Given the description of an element on the screen output the (x, y) to click on. 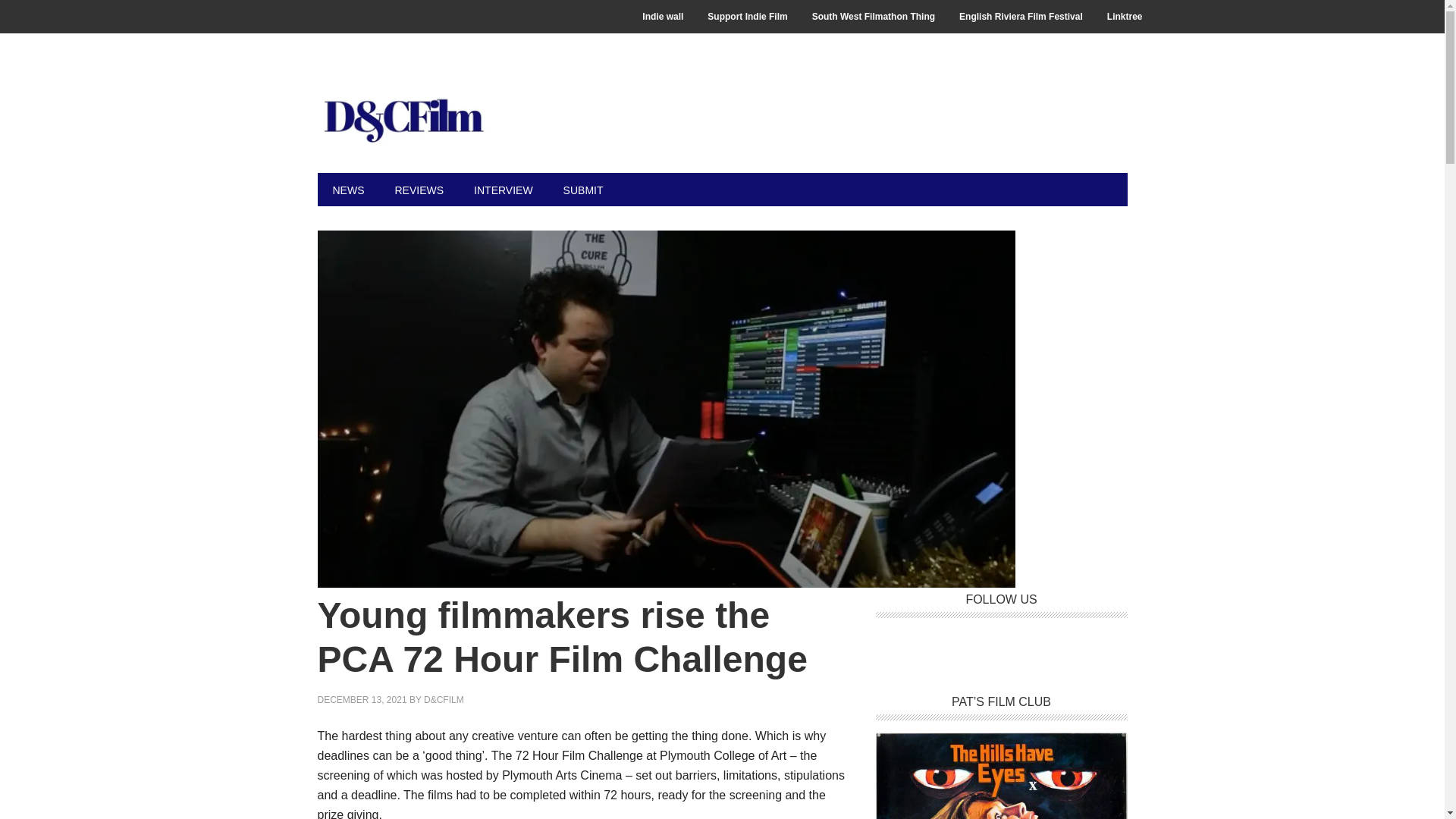
SUBMIT (583, 189)
Support Indie Film (747, 16)
INTERVIEW (503, 189)
Indie wall (662, 16)
South West Filmathon Thing (873, 16)
REVIEWS (418, 189)
NEWS (347, 189)
Linktree (1124, 16)
English Riviera Film Festival (1020, 16)
